Given the description of an element on the screen output the (x, y) to click on. 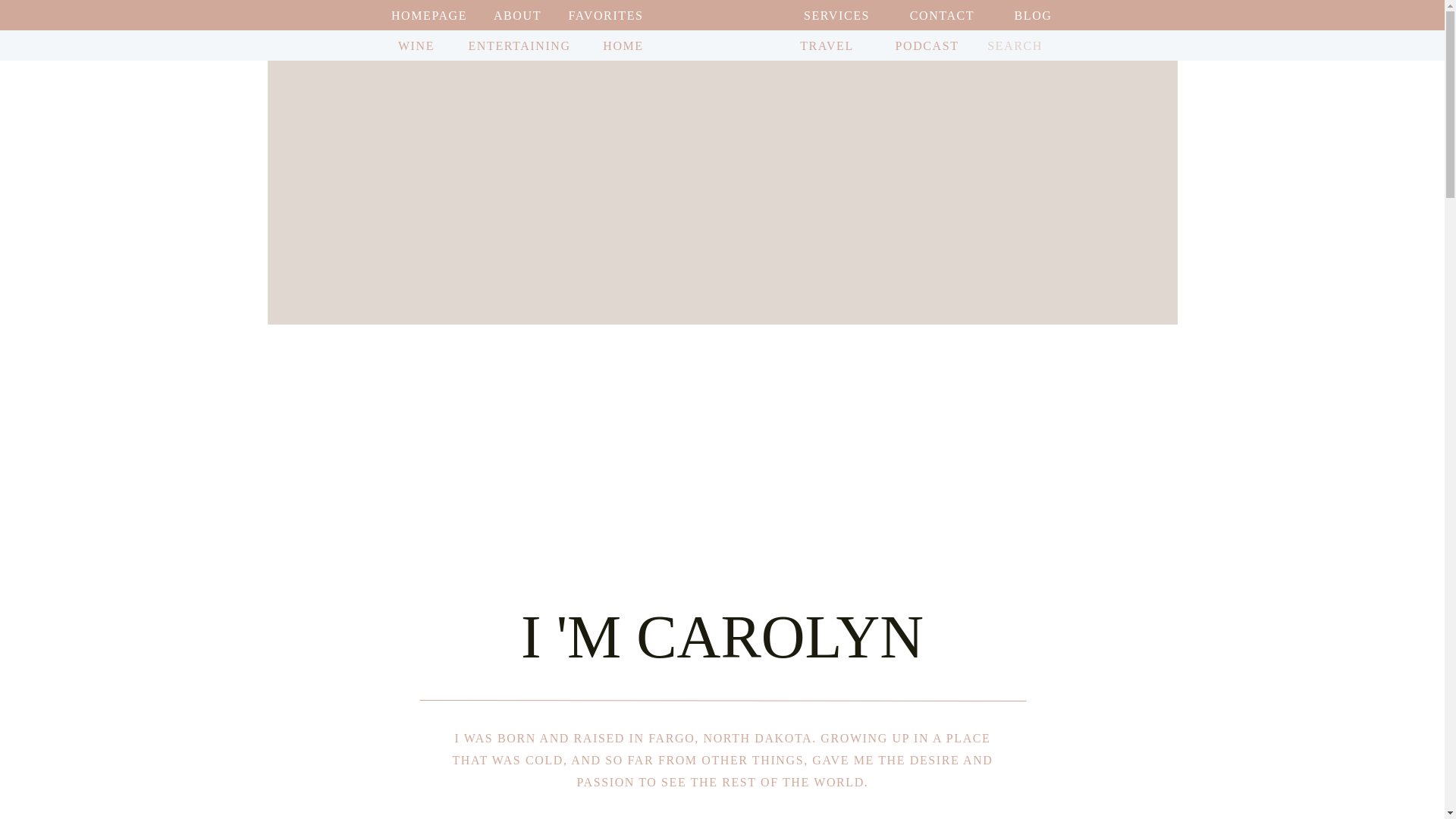
PODCAST (917, 45)
FAVORITES (605, 15)
WINE (417, 45)
HOMEPAGE (429, 15)
CONTACT (942, 15)
SERVICES (836, 15)
HOME (622, 45)
ABOUT (516, 15)
ENTERTAINING (518, 45)
BLOG (1033, 15)
TRAVEL (826, 45)
